Given the description of an element on the screen output the (x, y) to click on. 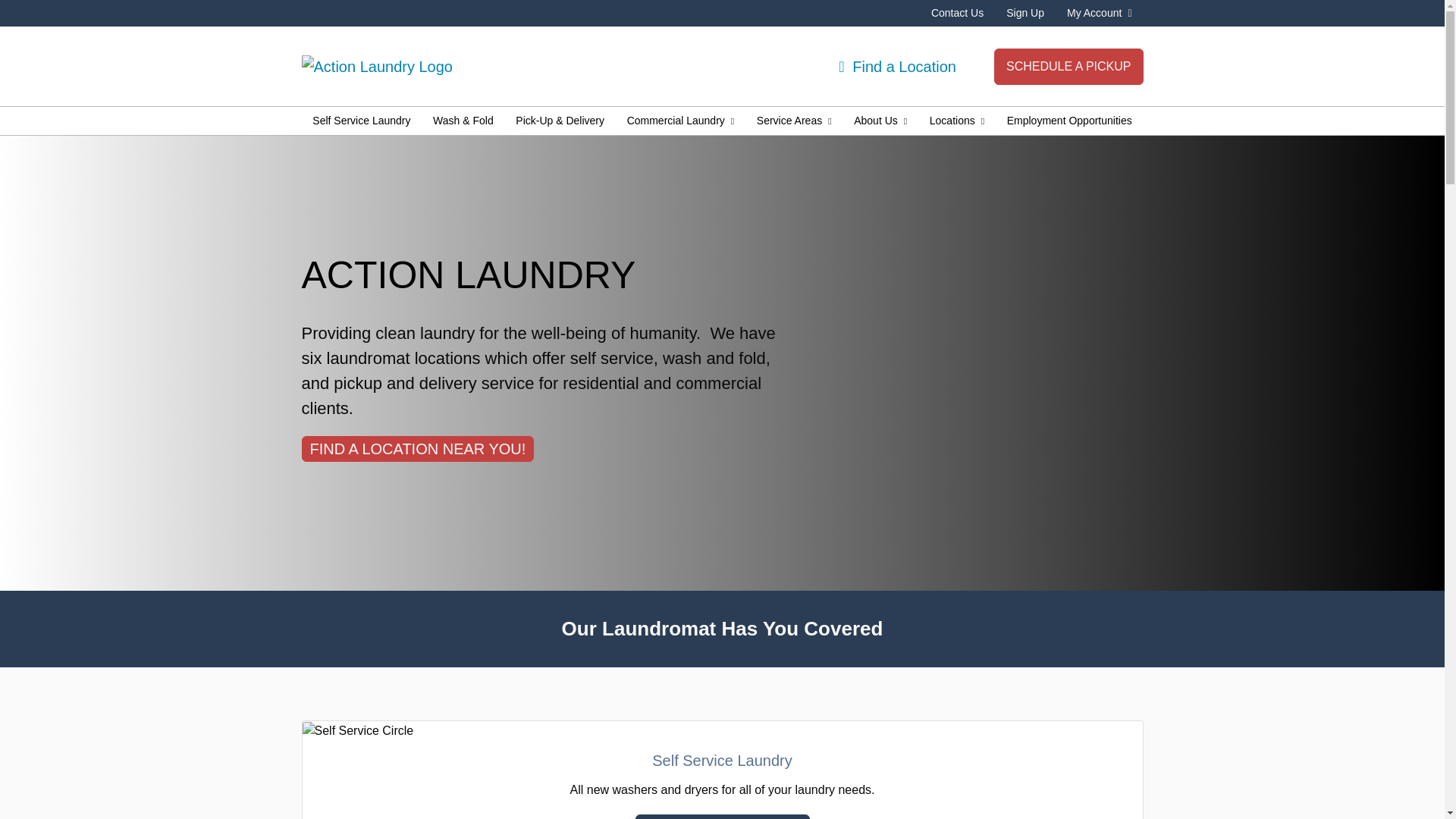
Service Areas (794, 121)
Service Areas (794, 121)
My Account (1099, 12)
Self Service Laundry (361, 121)
Contact Us (957, 12)
SCHEDULE A PICKUP (1068, 66)
Sign Up (1024, 12)
Find a Location (897, 65)
Find a Location (897, 65)
Contact Us (957, 12)
Commercial Laundry (680, 121)
Commercial Laundry (680, 121)
My Account (1099, 12)
Schedule a Pickup (1068, 66)
Sign Up (1024, 12)
